Given the description of an element on the screen output the (x, y) to click on. 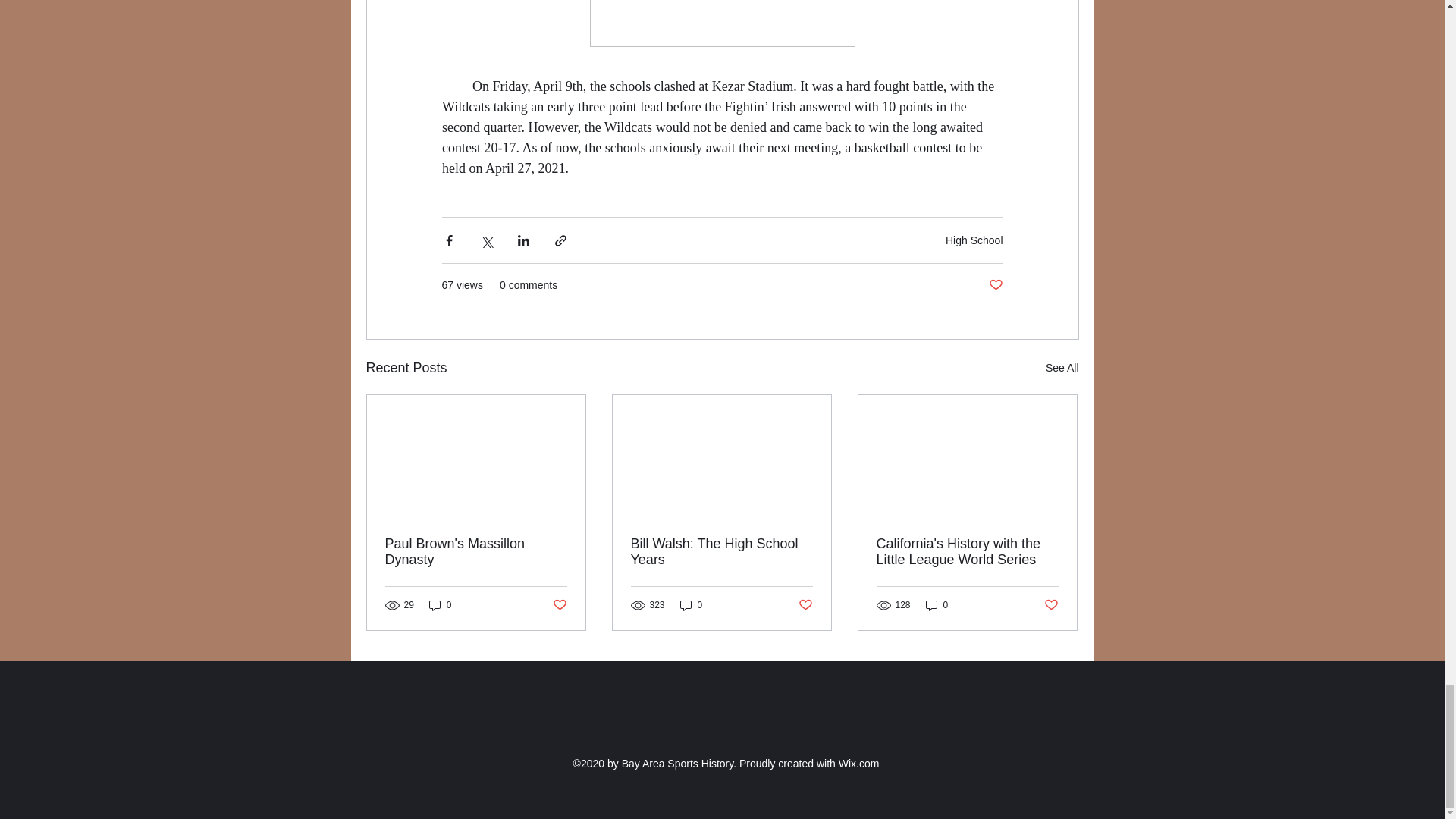
0 (691, 605)
Post not marked as liked (1050, 605)
Post not marked as liked (558, 605)
0 (440, 605)
High School (973, 240)
Post not marked as liked (804, 605)
See All (1061, 368)
California's History with the Little League World Series (967, 552)
0 (937, 605)
Paul Brown's Massillon Dynasty (476, 552)
